Given the description of an element on the screen output the (x, y) to click on. 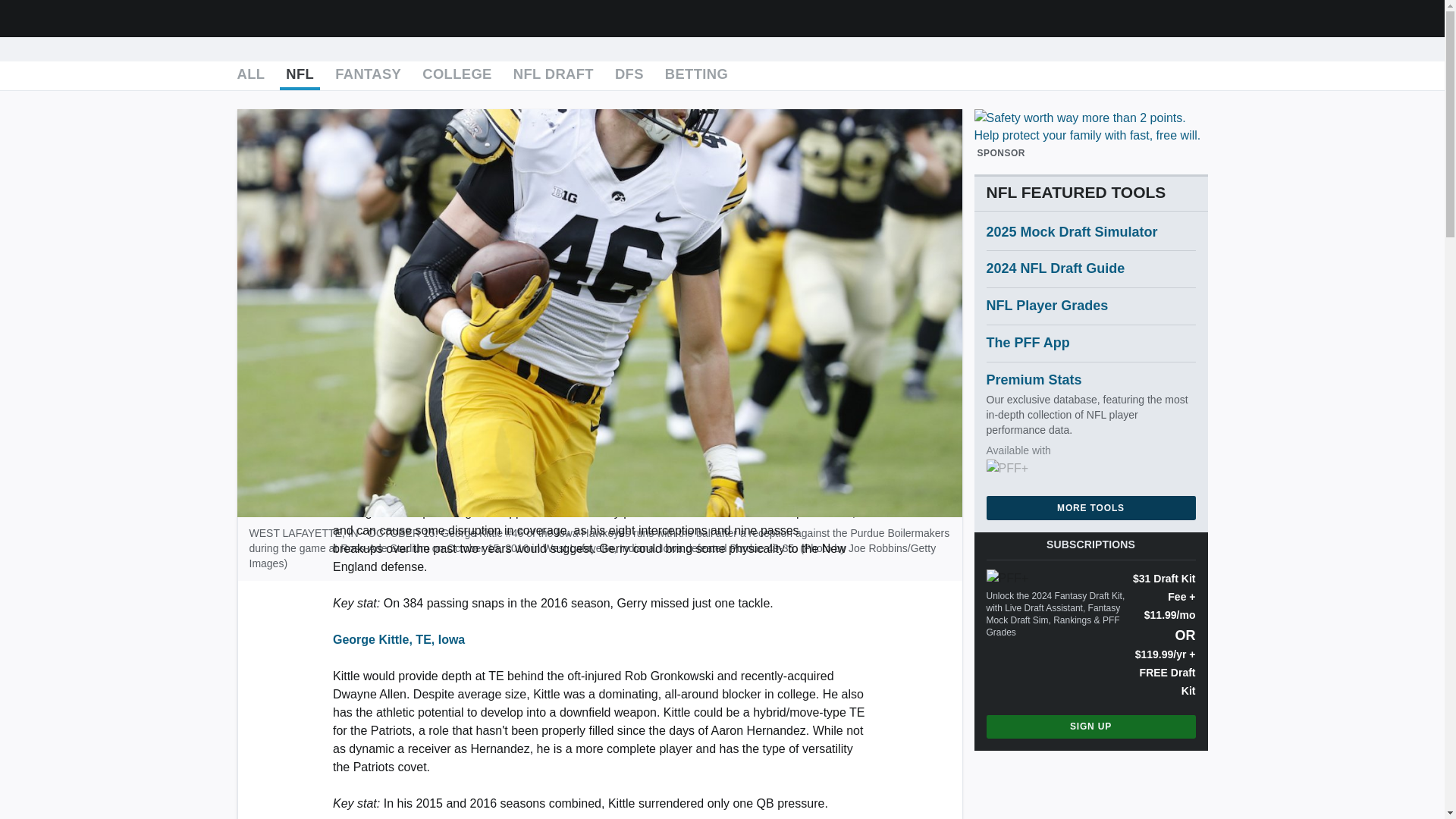
MORE TOOLS (1090, 507)
The PFF App (1090, 343)
FANTASY (368, 75)
COLLEGE (456, 75)
NFL Player Grades (1090, 306)
SIGN UP (1090, 726)
DFS (628, 75)
2024 NFL Draft Guide (1090, 269)
George Kittle, TE, Iowa (398, 639)
ALL (250, 75)
